Given the description of an element on the screen output the (x, y) to click on. 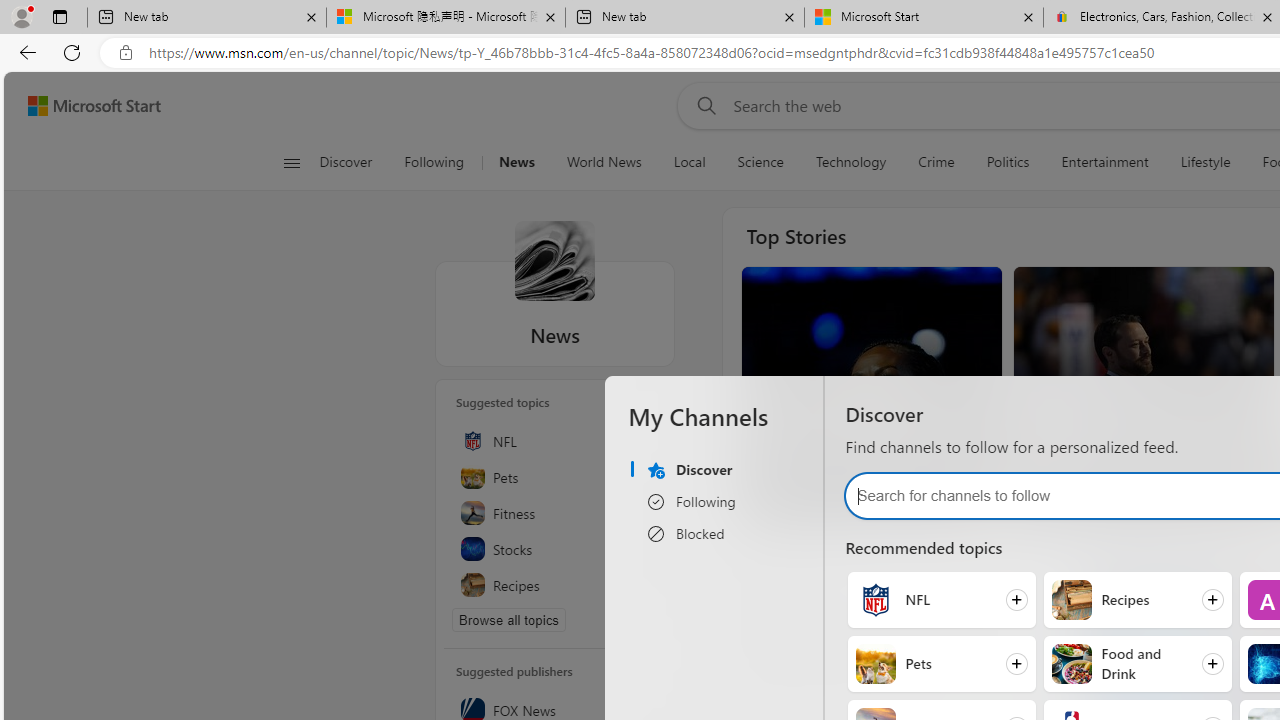
New tab (684, 17)
Science (760, 162)
View comments 268 Comment (863, 500)
Follow Recipes (1137, 599)
View site information (125, 53)
Technology (851, 162)
View comments 16 Comment (1124, 500)
Follow NFL (941, 599)
Fitness (555, 512)
View comments 16 Comment (1116, 500)
